Given the description of an element on the screen output the (x, y) to click on. 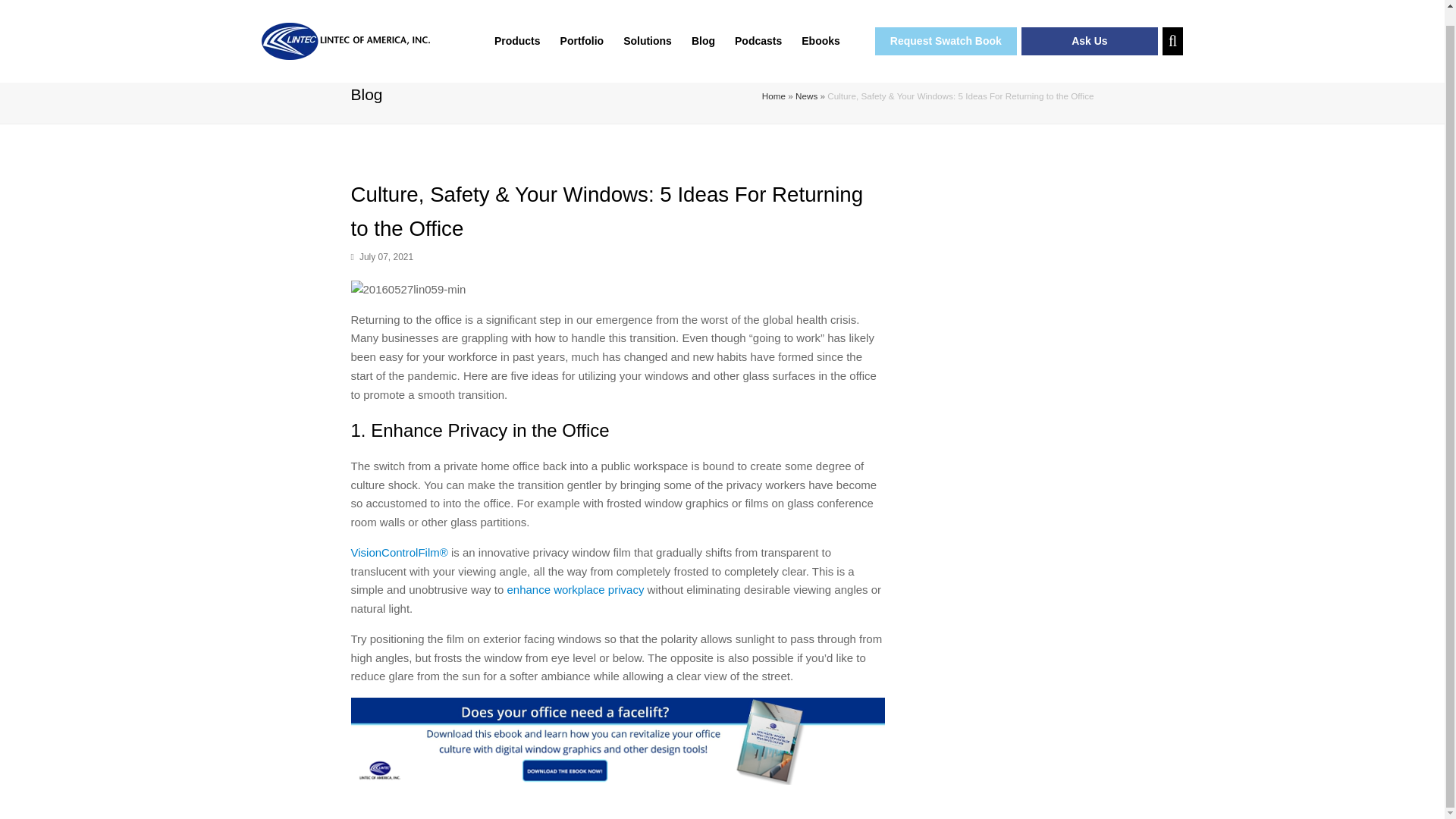
Request Swatch Book (945, 26)
Ebooks (821, 25)
Podcasts (758, 25)
Solutions (647, 25)
Lintec of America, Inc (345, 26)
Blog (702, 25)
Ask Us (1089, 26)
Portfolio (582, 25)
enhance workplace privacy (574, 589)
News (805, 95)
